Given the description of an element on the screen output the (x, y) to click on. 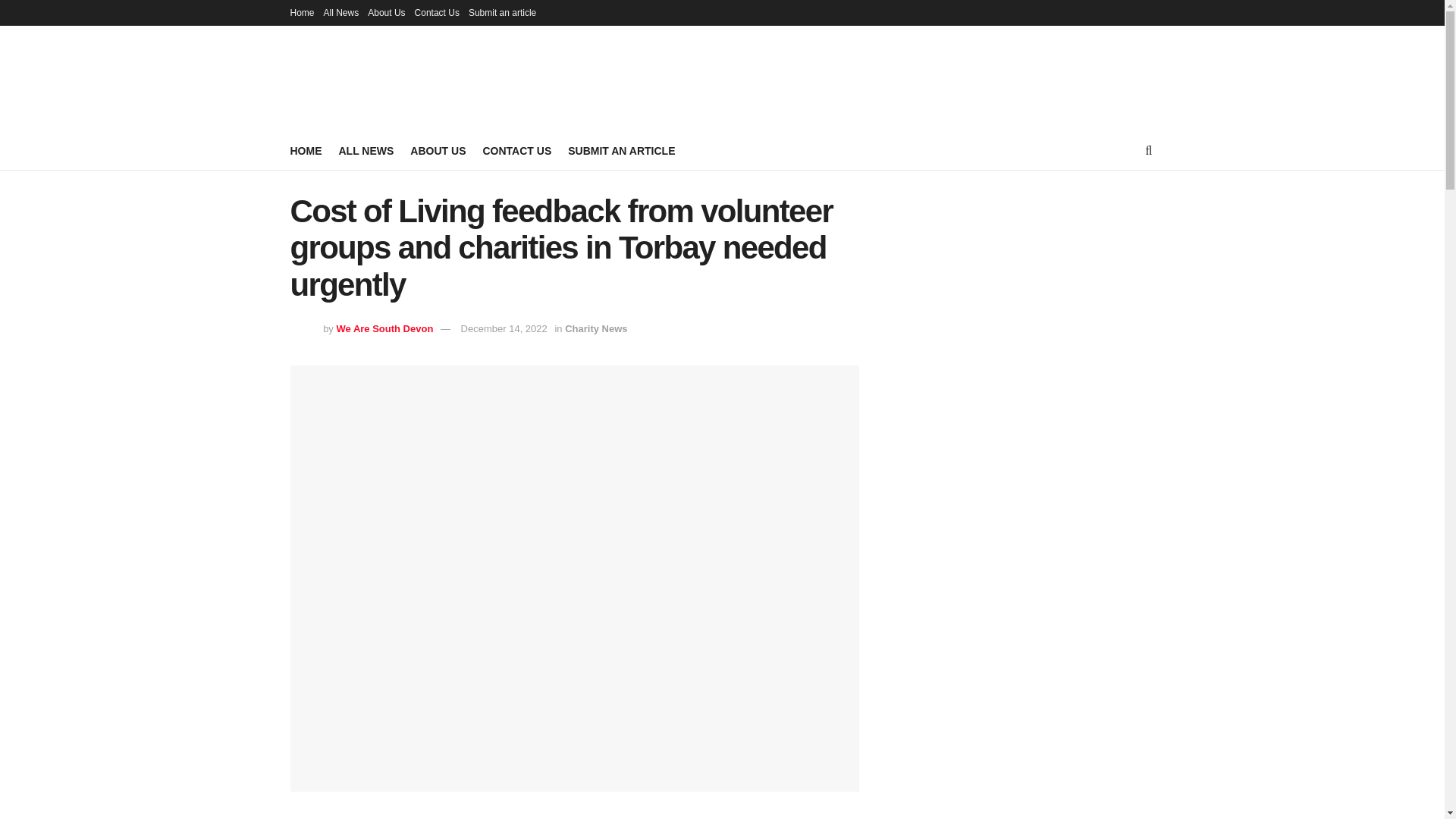
ALL NEWS (365, 150)
CONTACT US (516, 150)
Home (301, 12)
HOME (305, 150)
Charity News (595, 328)
About Us (386, 12)
We Are South Devon (384, 328)
Contact Us (437, 12)
All News (341, 12)
SUBMIT AN ARTICLE (621, 150)
